Given the description of an element on the screen output the (x, y) to click on. 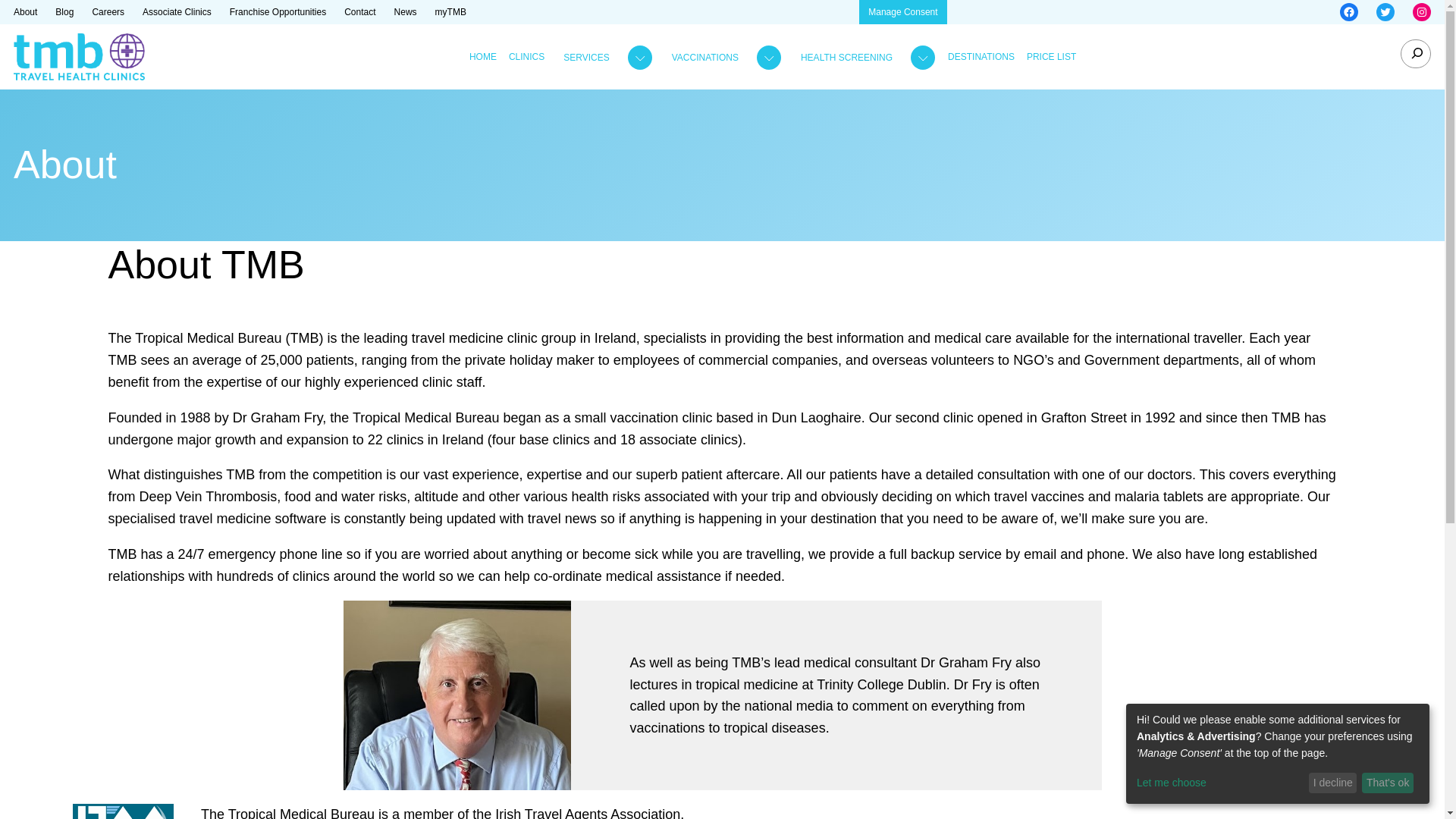
myTMB (450, 12)
News (405, 12)
Contact (359, 12)
Facebook (1348, 12)
Submenu Toggle (723, 57)
VACCINATIONS (704, 57)
Twitter (1384, 12)
Manage Consent (902, 12)
Associate Clinics (176, 12)
Careers (107, 12)
About (25, 12)
Franchise Opportunities (278, 12)
Instagram (1421, 12)
Submenu Toggle (604, 57)
Submenu Toggle (864, 57)
